Given the description of an element on the screen output the (x, y) to click on. 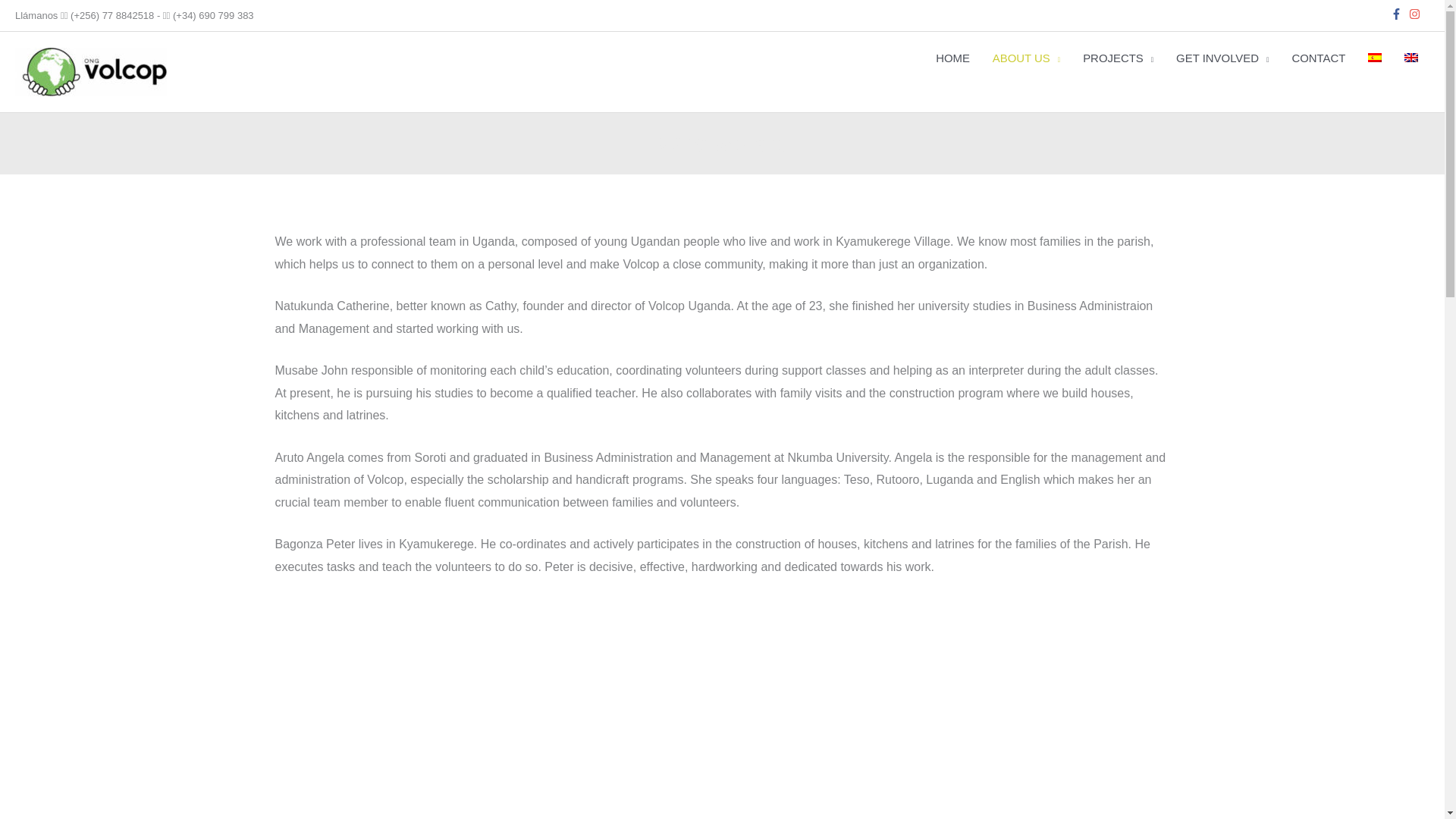
CONTACT (1317, 58)
PROJECTS (1117, 58)
ABOUT US (1026, 58)
GET INVOLVED (1221, 58)
HOME (952, 58)
